Given the description of an element on the screen output the (x, y) to click on. 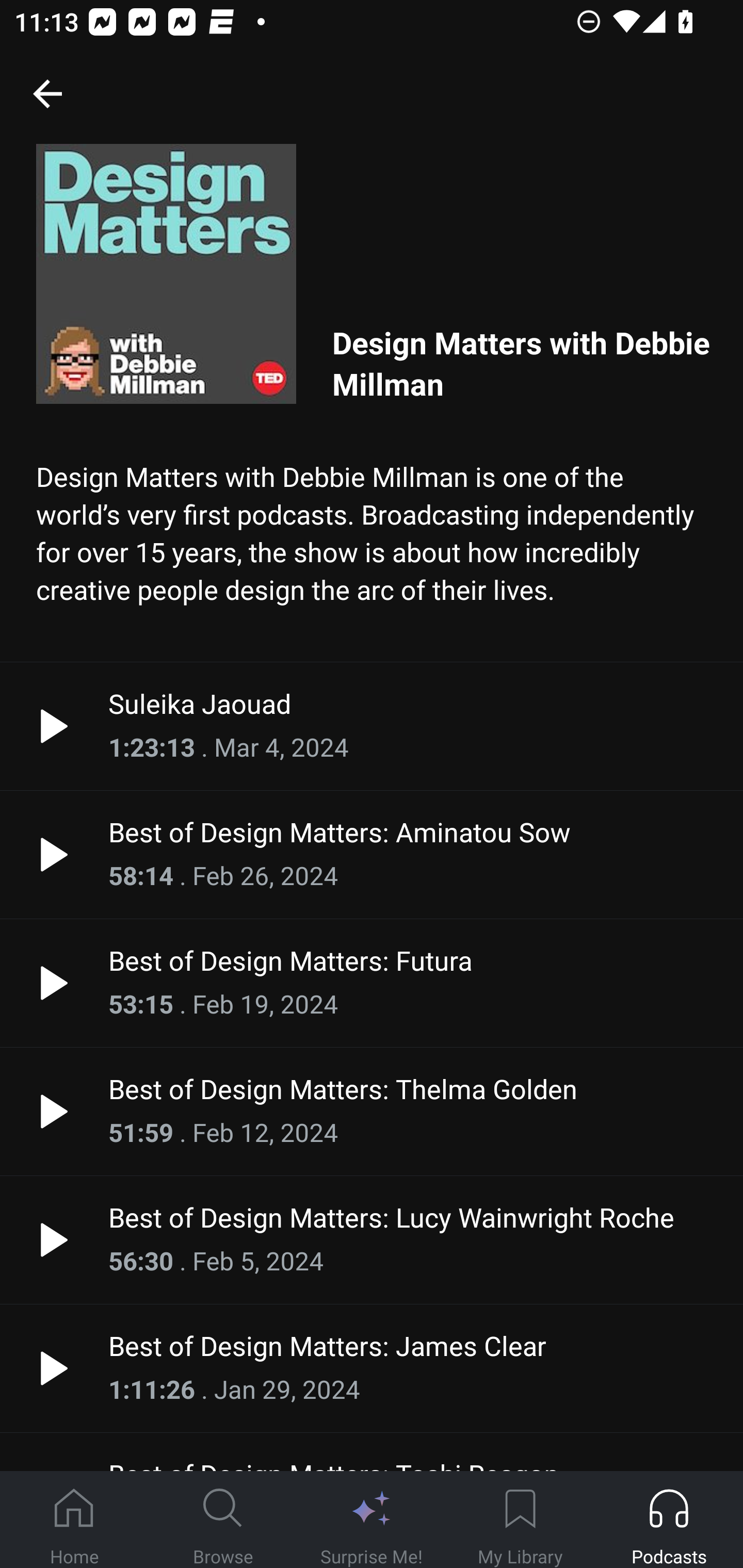
TED Podcasts, back (47, 92)
Suleika Jaouad 1:23:13 . Mar 4, 2024 (371, 725)
Home (74, 1520)
Browse (222, 1520)
Surprise Me! (371, 1520)
My Library (519, 1520)
Podcasts (668, 1520)
